Given the description of an element on the screen output the (x, y) to click on. 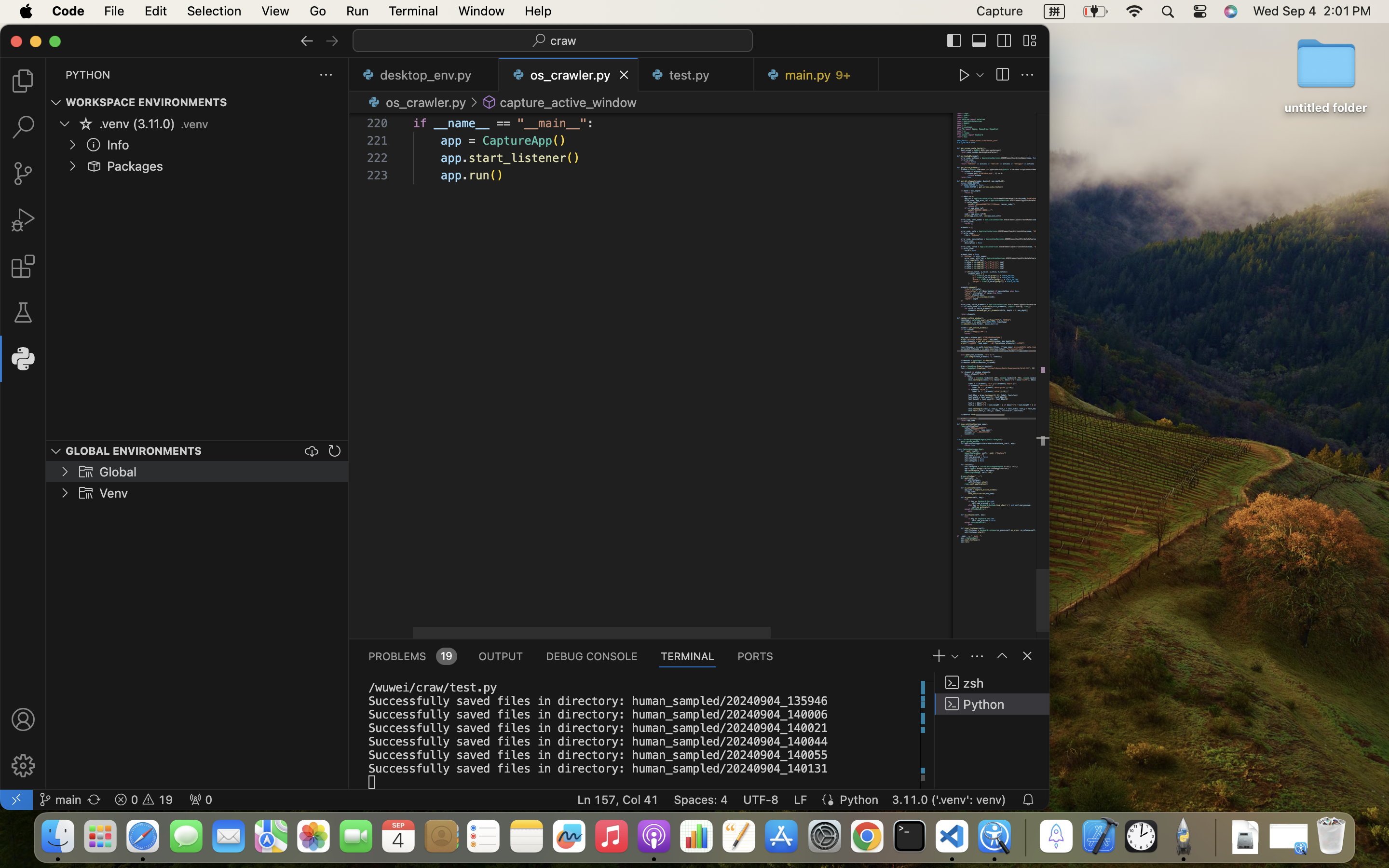
zsh  Element type: AXGroup (991, 682)
 Element type: AXCheckBox (978, 40)
Global Element type: AXStaticText (117, 471)
WORKSPACE ENVIRONMENTS Element type: AXStaticText (146, 102)
0 OUTPUT Element type: AXRadioButton (500, 655)
